Given the description of an element on the screen output the (x, y) to click on. 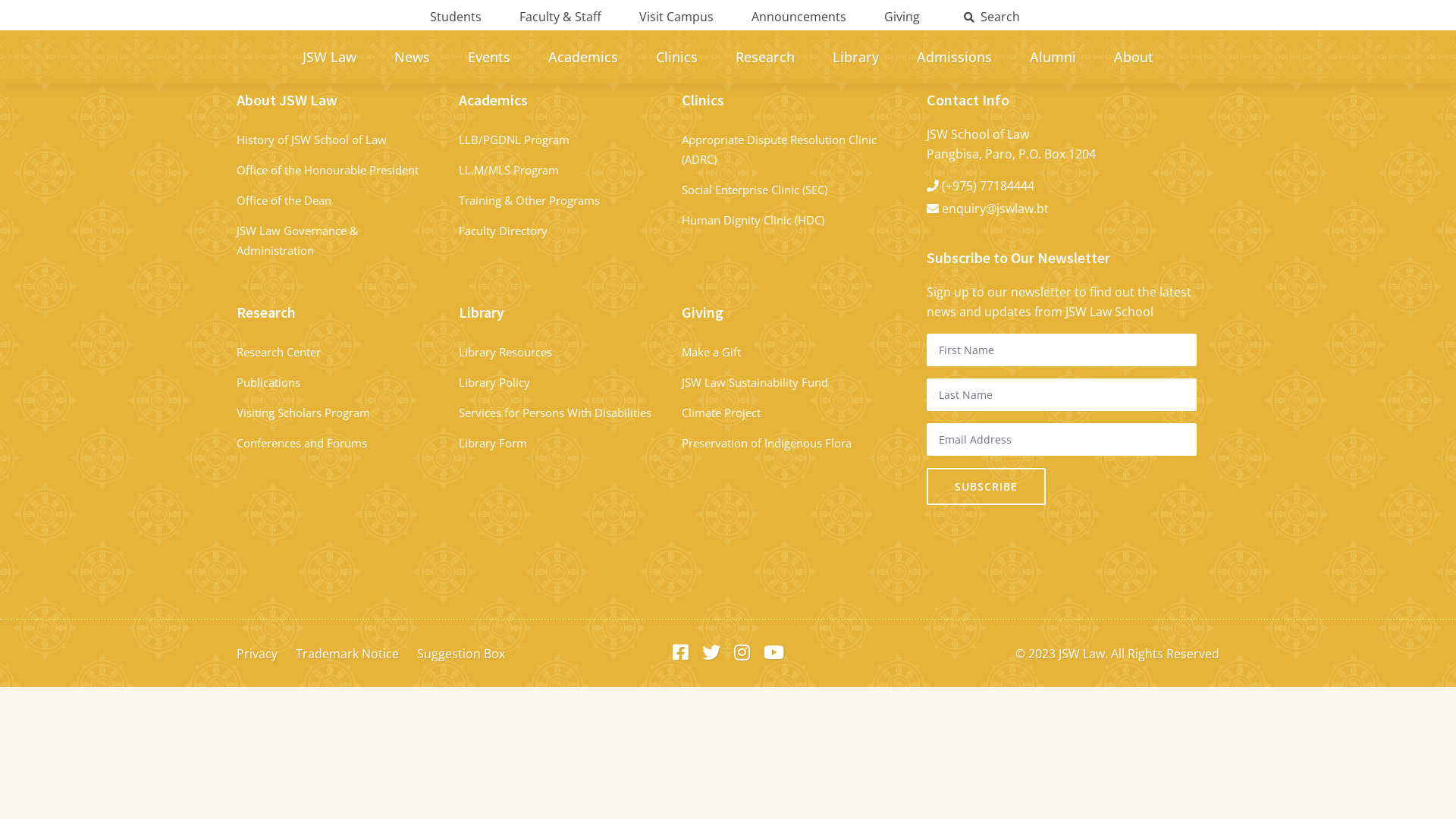
Appropriate Dispute Resolution Clinic (ADRC) Element type: text (778, 148)
Events Element type: text (488, 56)
Subscribe Element type: text (985, 486)
Services for Persons With Disabilities Element type: text (554, 412)
JSW Law Element type: text (329, 56)
Library Form Element type: text (492, 442)
Research Element type: text (764, 56)
Library Resources Element type: text (505, 351)
Climate Project Element type: text (720, 412)
About Element type: text (1133, 56)
LLB/PGDNL Program Element type: text (513, 139)
Library Element type: text (855, 56)
Office of the Honourable President  Element type: text (328, 169)
Admissions Element type: text (953, 56)
Clinics Element type: text (676, 56)
Trademark Notice Element type: text (346, 652)
News Element type: text (411, 56)
Faculty & Staff Element type: text (560, 16)
Office of the Dean Element type: text (283, 199)
Preservation of Indigenous Flora Element type: text (766, 442)
Social Enterprise Clinic (SEC) Element type: text (754, 189)
Library Policy Element type: text (494, 381)
Giving Element type: text (901, 16)
Alumni Element type: text (1052, 56)
Faculty Directory Element type: text (502, 230)
Human Dignity Clinic (HDC) Element type: text (752, 219)
Announcements Element type: text (798, 16)
Make a Gift Element type: text (710, 351)
JSW Law Sustainability Fund Element type: text (754, 381)
Suggestion Box Element type: text (461, 652)
LL.M/MLS Program Element type: text (508, 169)
Search Element type: text (991, 16)
Conferences and Forums Element type: text (301, 442)
History of JSW School of Law Element type: text (311, 139)
Publications Element type: text (268, 381)
Training & Other Programs Element type: text (528, 199)
JSW Law Governance & Administration  Element type: text (296, 239)
Visiting Scholars Program Element type: text (303, 412)
Privacy Element type: text (256, 652)
Visit Campus Element type: text (676, 16)
Academics Element type: text (583, 56)
Students Element type: text (455, 16)
Research Center Element type: text (278, 351)
